Given the description of an element on the screen output the (x, y) to click on. 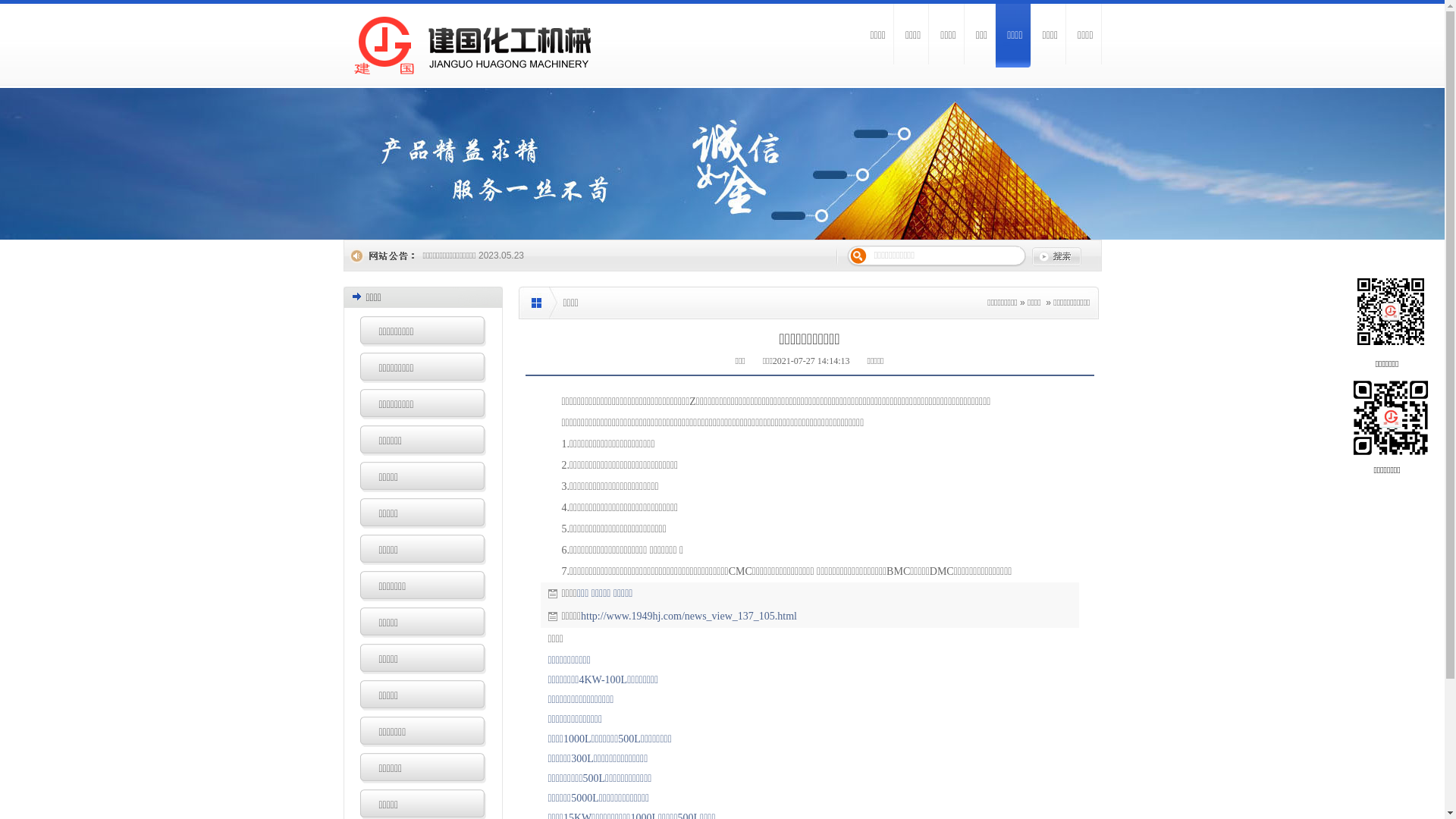
http://www.1949hj.com/news_view_137_105.html Element type: text (688, 615)
